Given the description of an element on the screen output the (x, y) to click on. 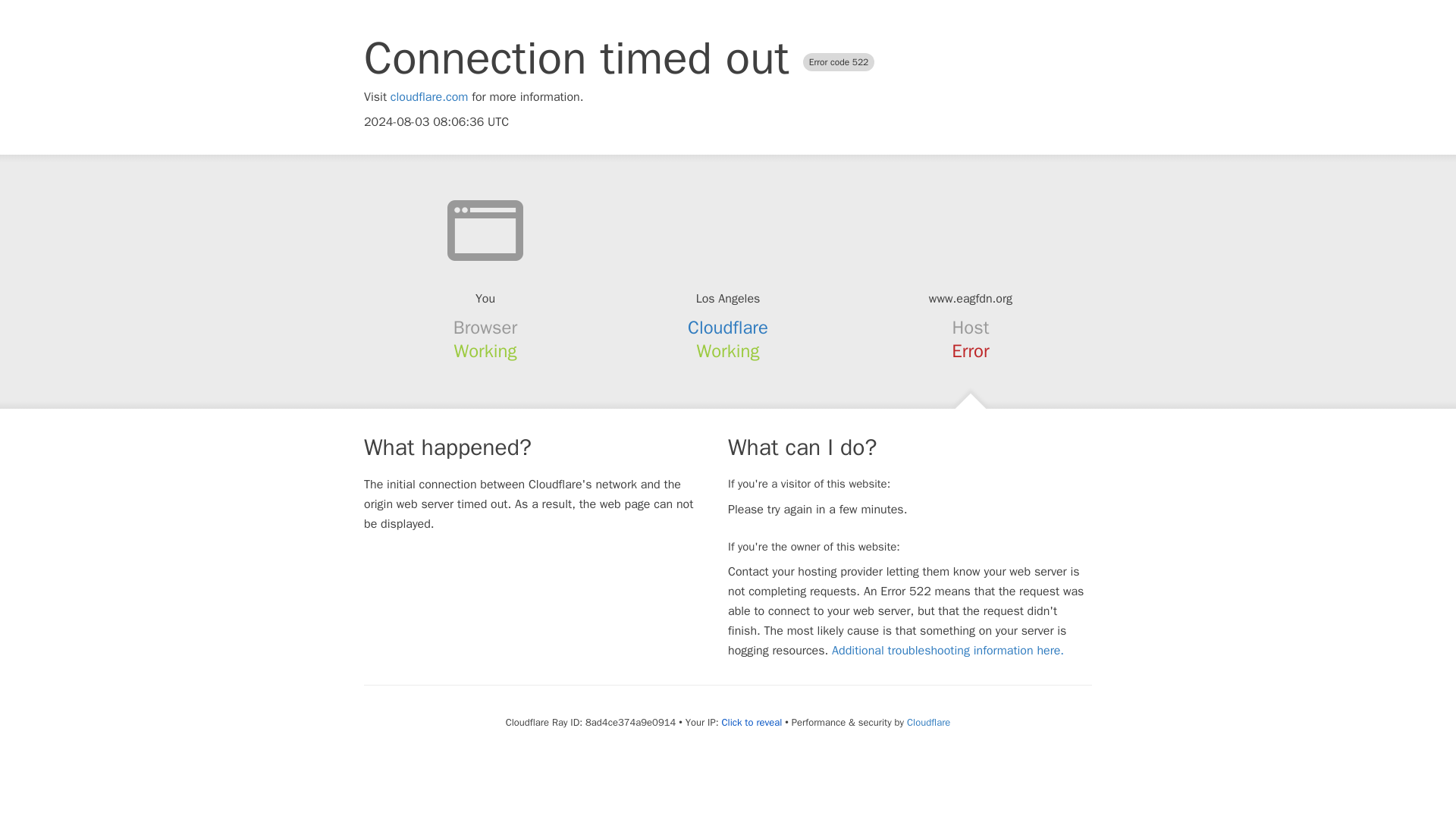
Additional troubleshooting information here. (947, 650)
Cloudflare (928, 721)
cloudflare.com (429, 96)
Click to reveal (750, 722)
Cloudflare (727, 327)
